Given the description of an element on the screen output the (x, y) to click on. 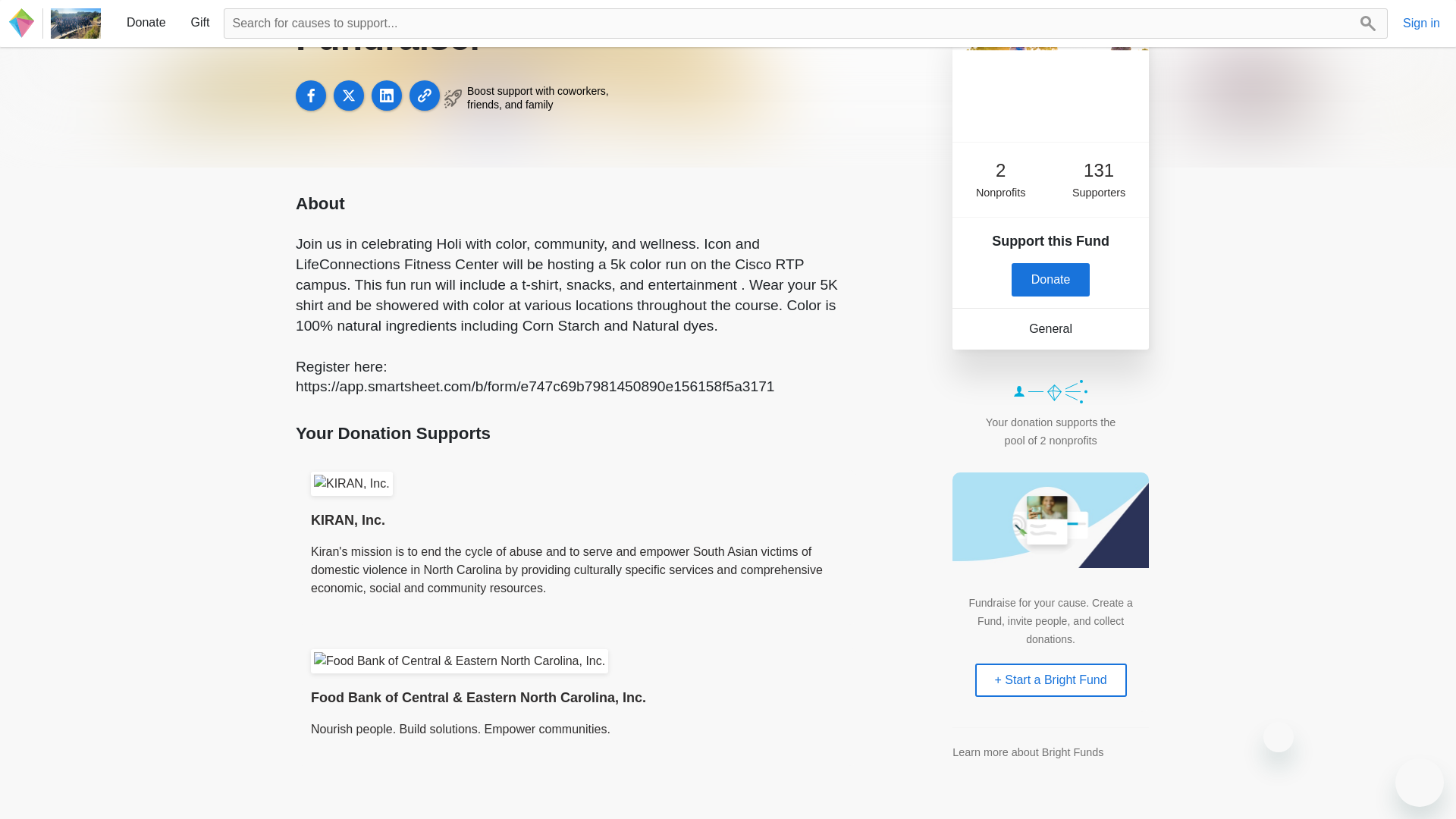
Donate (1050, 279)
Learn more about Bright Funds (1027, 752)
